Given the description of an element on the screen output the (x, y) to click on. 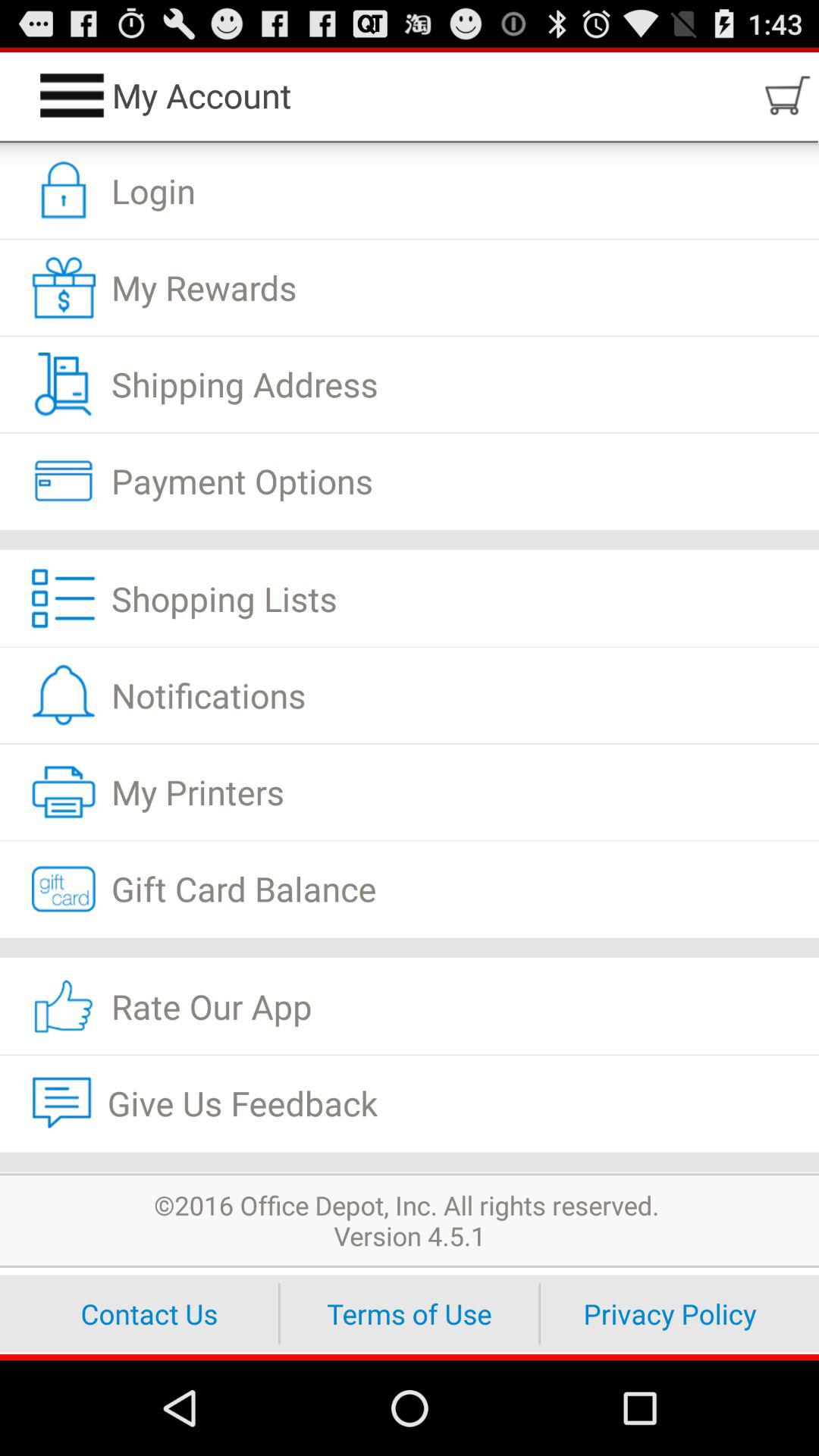
flip until the login app (409, 190)
